Given the description of an element on the screen output the (x, y) to click on. 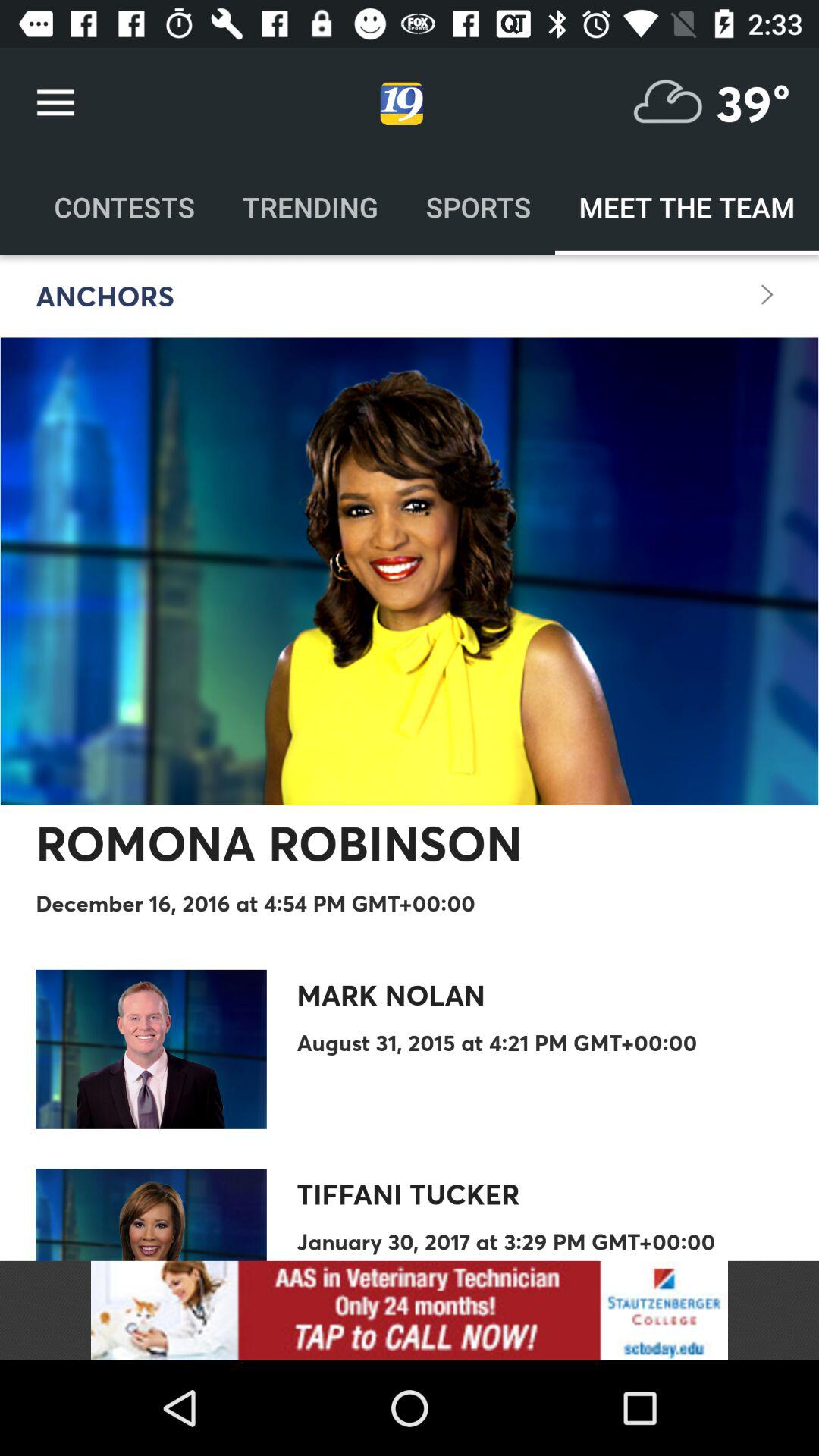
go to search option (668, 103)
